Given the description of an element on the screen output the (x, y) to click on. 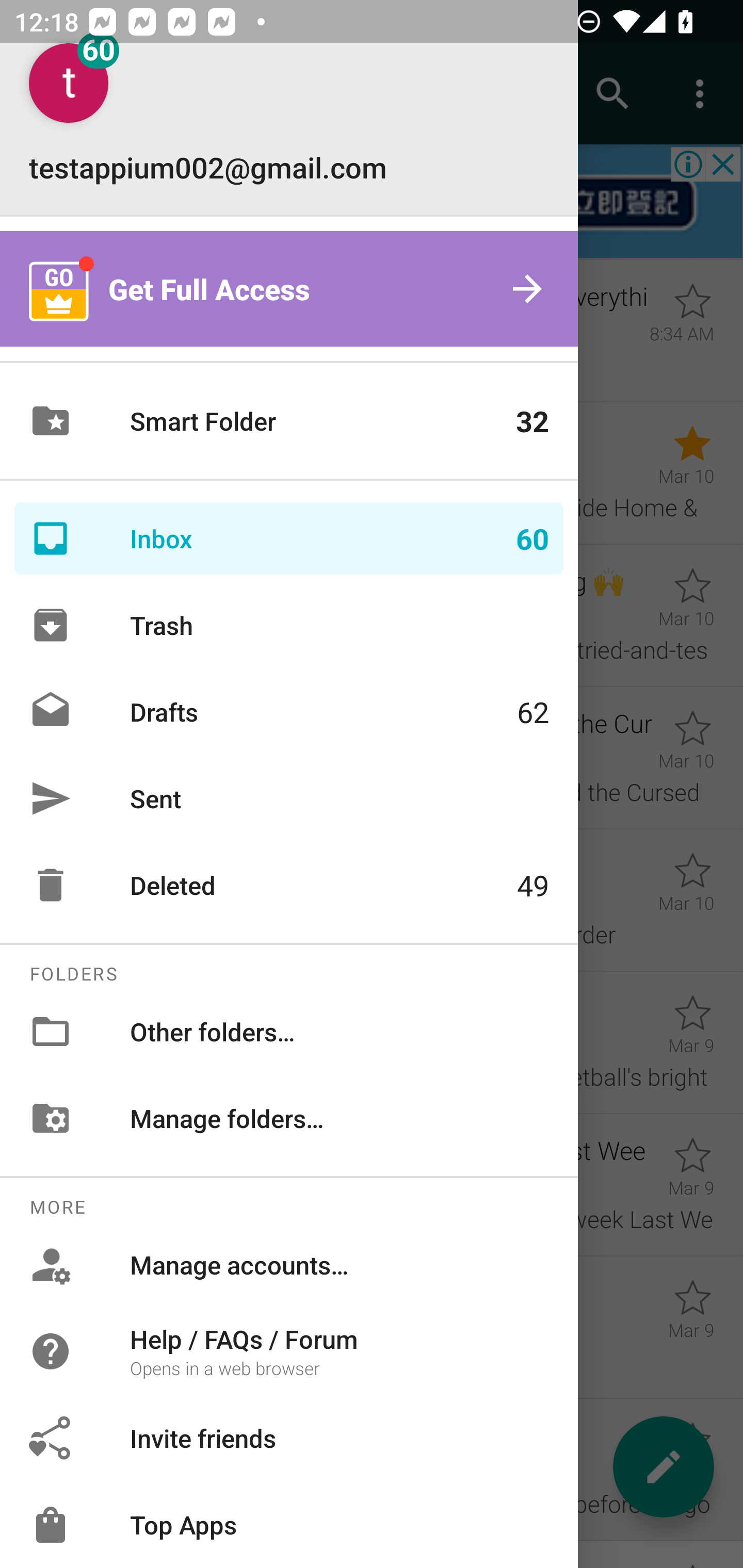
testappium002@gmail.com (289, 114)
Get Full Access (289, 288)
Smart Folder 32 (289, 420)
Inbox 60 (289, 538)
Trash (289, 624)
Drafts 62 (289, 711)
Sent (289, 798)
Deleted 49 (289, 885)
Other folders… (289, 1031)
Manage folders… (289, 1118)
Manage accounts… (289, 1264)
Help / FAQs / Forum Opens in a web browser (289, 1350)
Invite friends (289, 1437)
Top Apps (289, 1524)
